Given the description of an element on the screen output the (x, y) to click on. 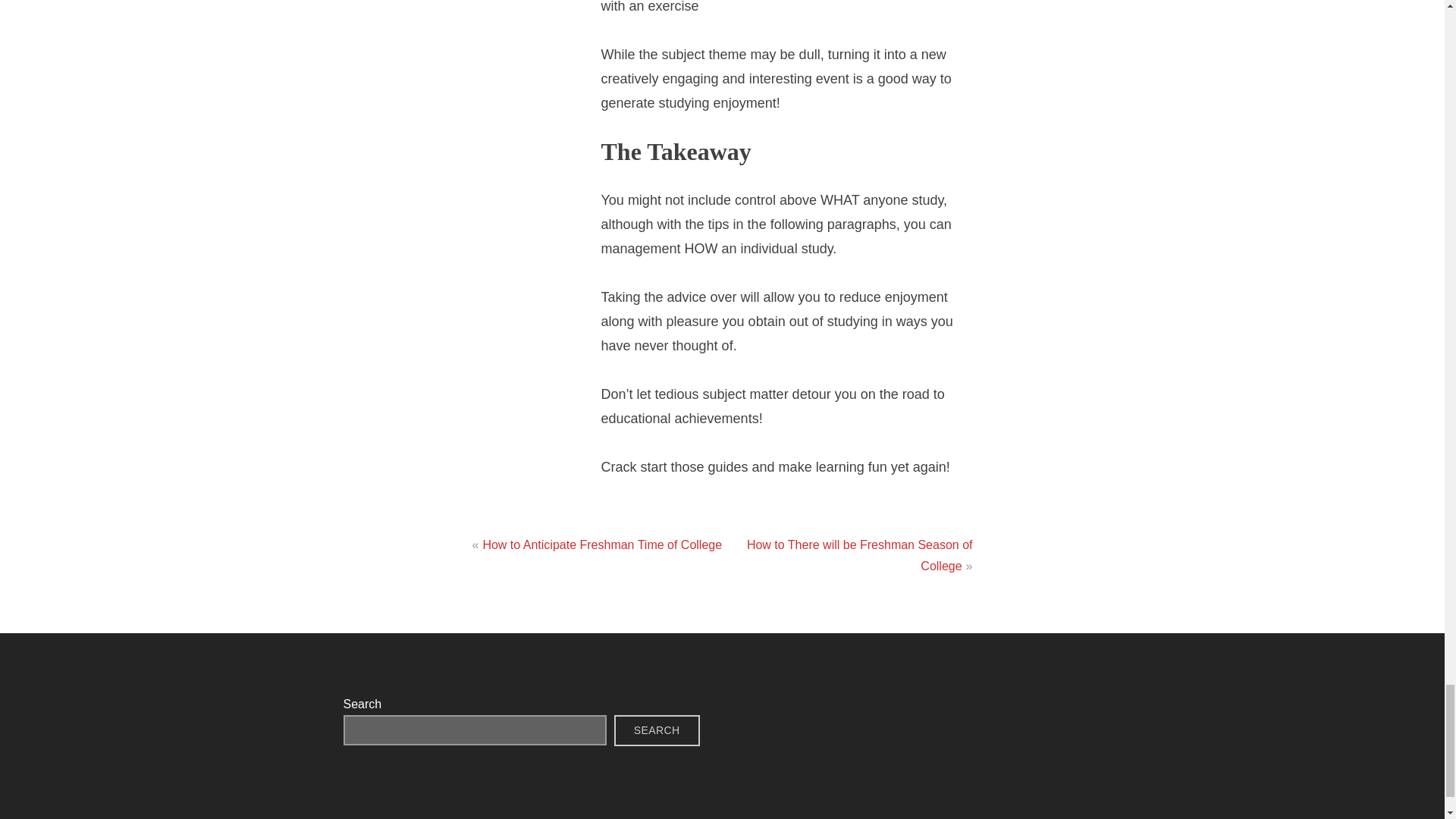
How to There will be Freshman Season of College (859, 555)
How to Anticipate Freshman Time of College (601, 544)
SEARCH (657, 730)
